Given the description of an element on the screen output the (x, y) to click on. 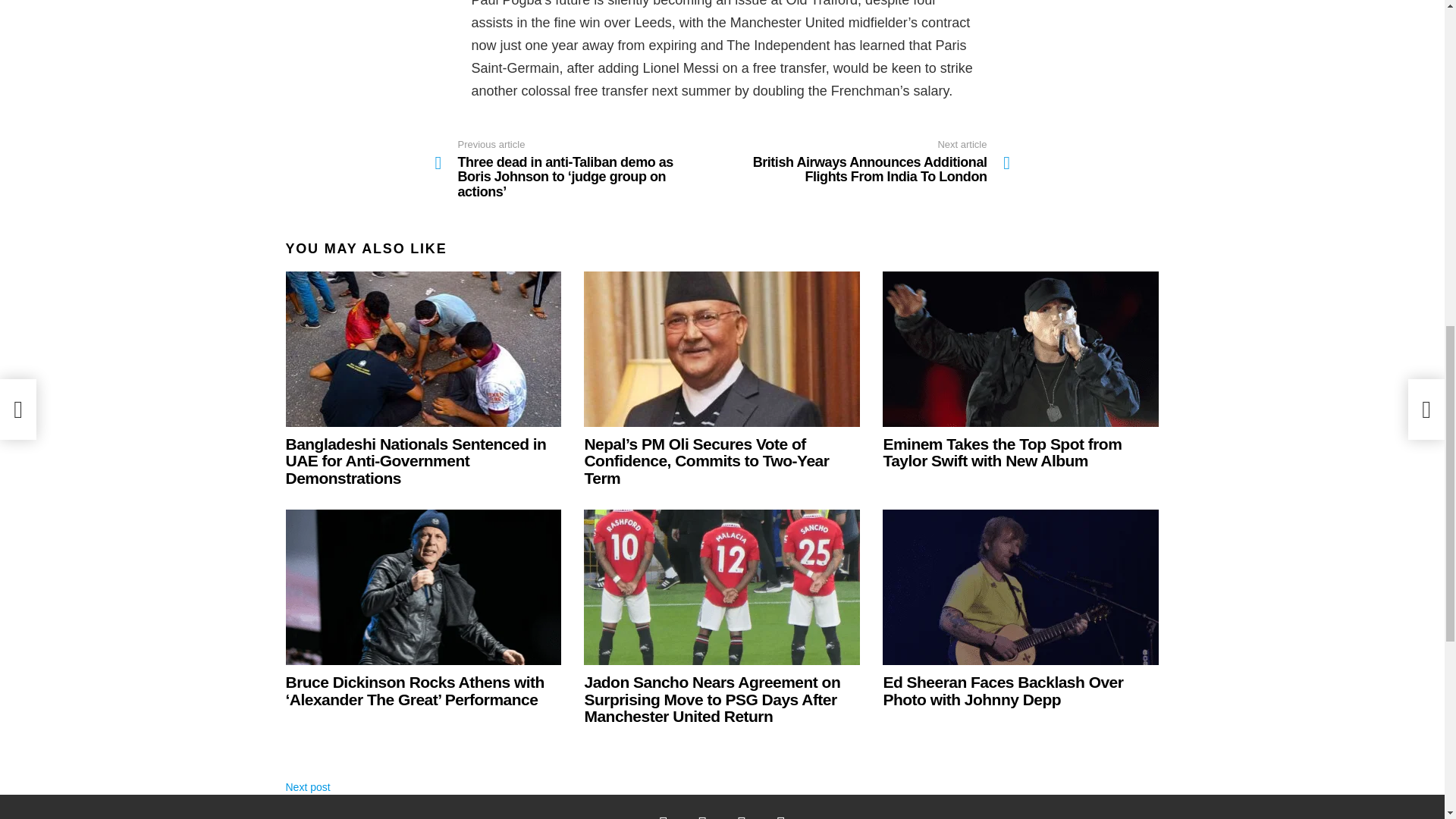
Eminem Takes the Top Spot from Taylor Swift with New Album (1001, 451)
linkedin (781, 816)
Eminem Takes the Top Spot from Taylor Swift with New Album (1020, 348)
Next post (307, 787)
Ed Sheeran Faces Backlash Over Photo with Johnny Depp (1020, 587)
twitter (702, 816)
instagram (740, 816)
facebook (663, 816)
Ed Sheeran Faces Backlash Over Photo with Johnny Depp (1002, 690)
